Given the description of an element on the screen output the (x, y) to click on. 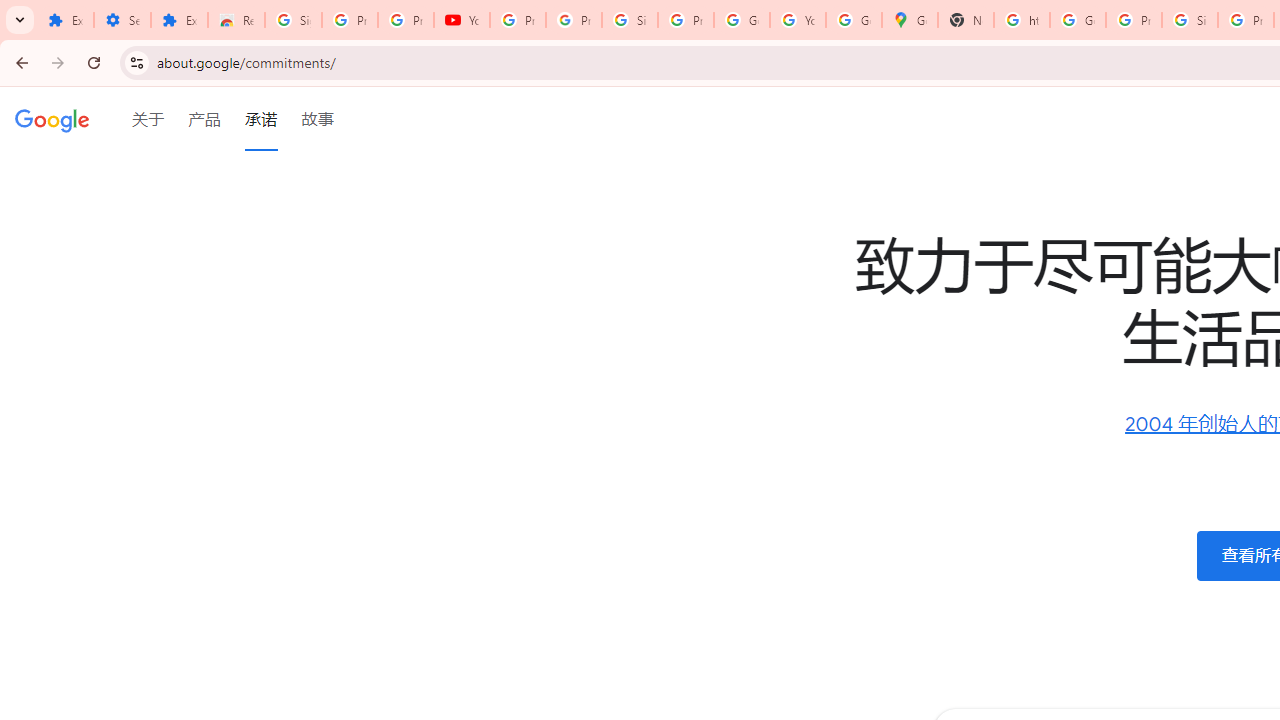
YouTube (461, 20)
